Given the description of an element on the screen output the (x, y) to click on. 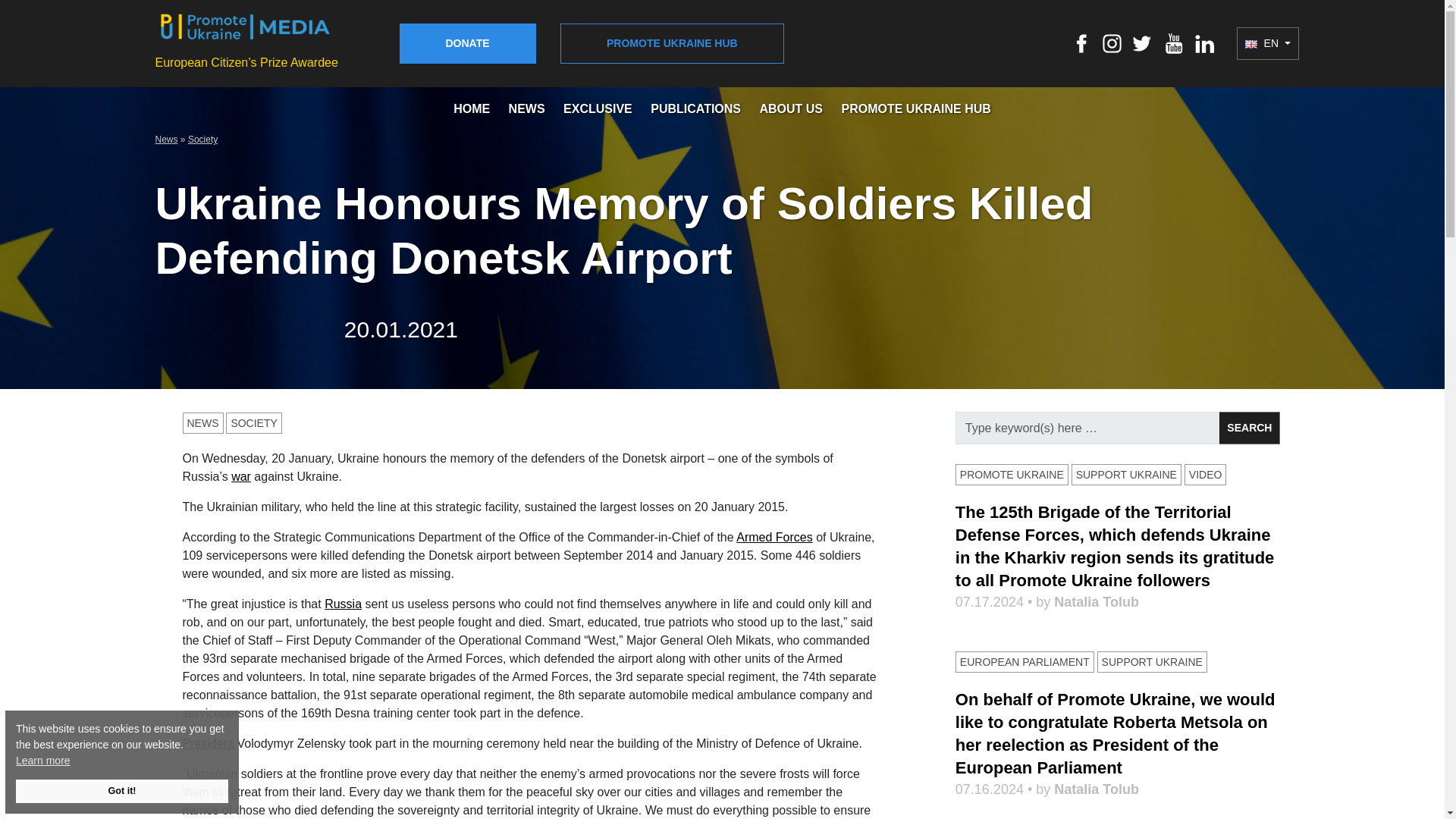
News (165, 139)
Search (1248, 427)
Got it! (122, 791)
Donate (466, 43)
President (207, 743)
DONATE (466, 43)
Twitter (1141, 42)
YouTube (1174, 42)
SOCIETY (253, 423)
Society (201, 139)
Search (1248, 427)
NEWS (526, 108)
News (165, 139)
PROMOTE UKRAINE HUB (915, 108)
Promote Ukraine hub (672, 43)
